Given the description of an element on the screen output the (x, y) to click on. 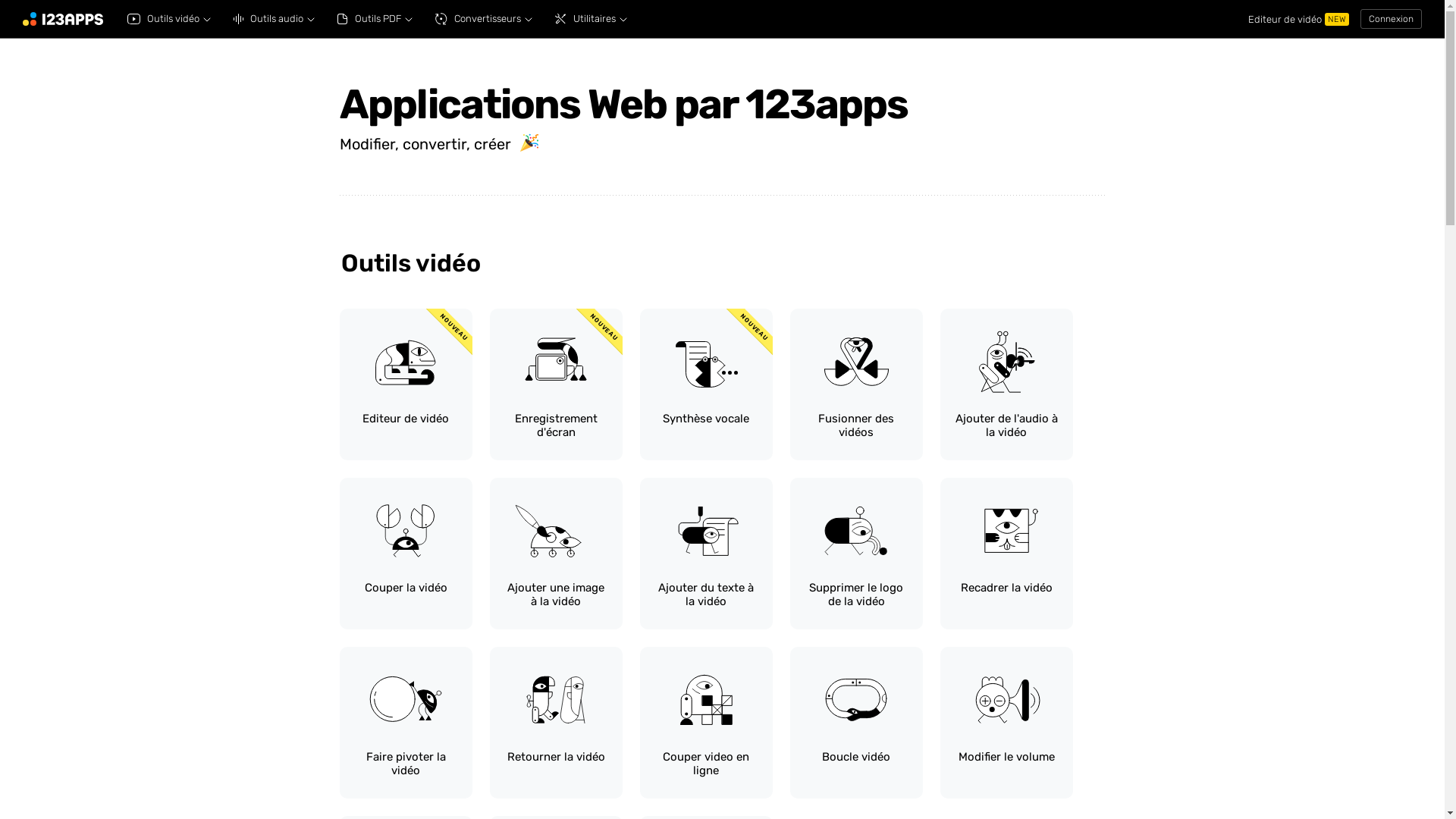
Utilitaires Element type: text (590, 18)
Outils audio Element type: text (274, 18)
Couper video en ligne Element type: text (706, 722)
Connexion Element type: text (1390, 18)
Modifier le volume Element type: text (1006, 722)
Convertisseurs Element type: text (483, 18)
Outils PDF Element type: text (374, 18)
